Given the description of an element on the screen output the (x, y) to click on. 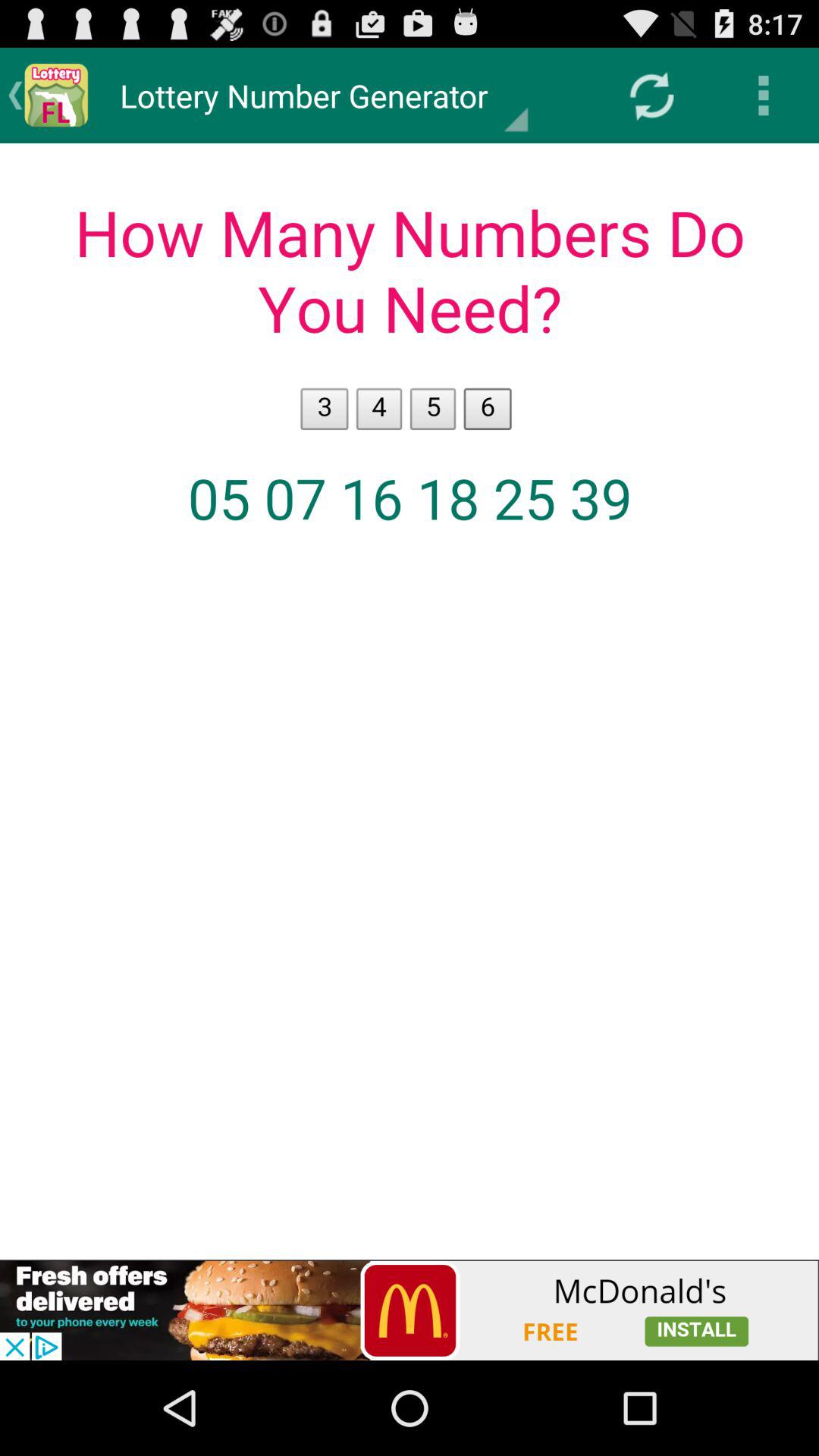
close button (409, 1310)
